Given the description of an element on the screen output the (x, y) to click on. 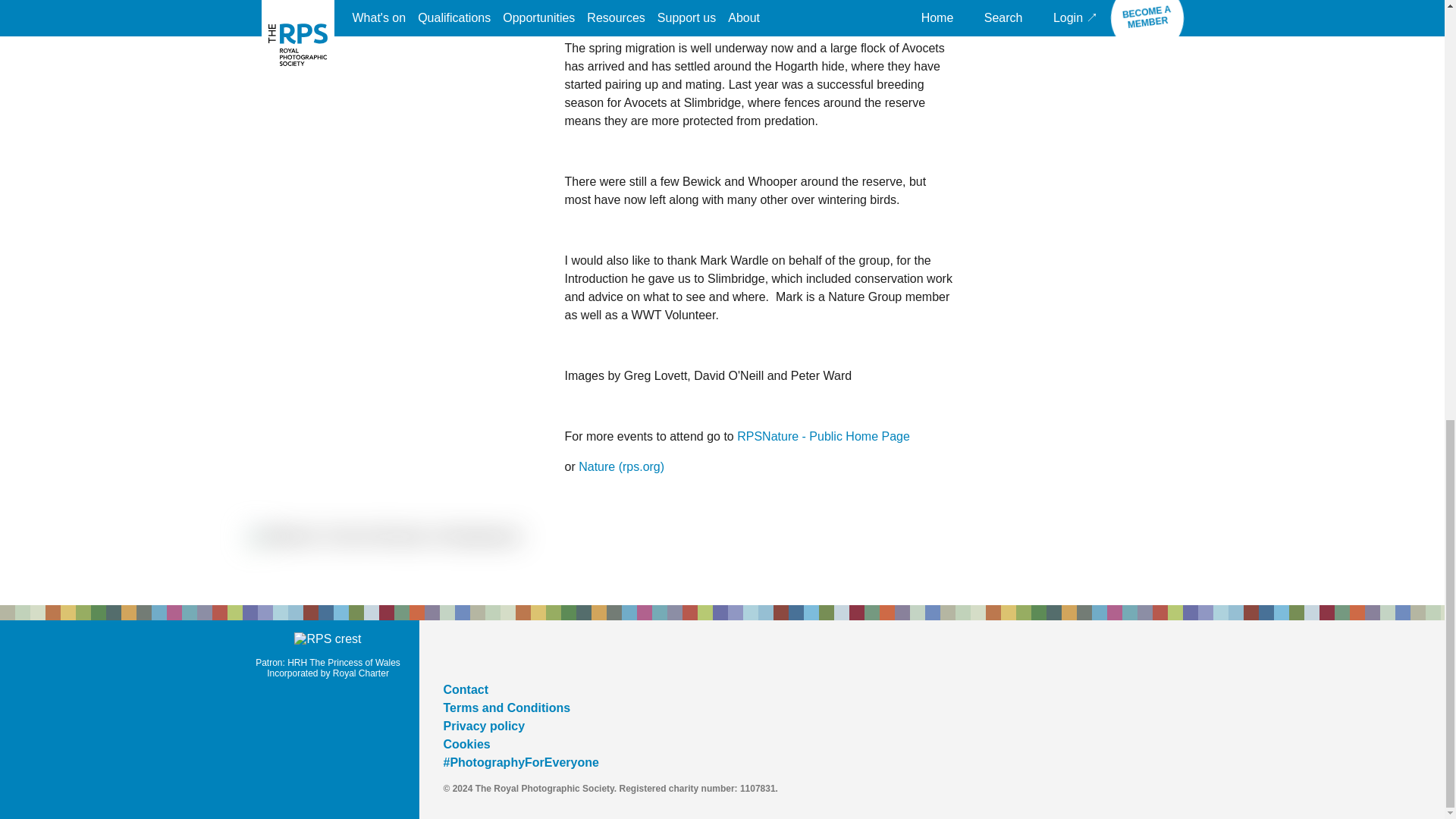
Twitter (452, 654)
Privacy policy (483, 725)
Cookies (465, 744)
Facebook (490, 654)
RSS feed (563, 654)
Terms and Conditions (506, 707)
RPSNature - Public Home Page (823, 436)
Instagram (526, 654)
Contact (464, 689)
